Given the description of an element on the screen output the (x, y) to click on. 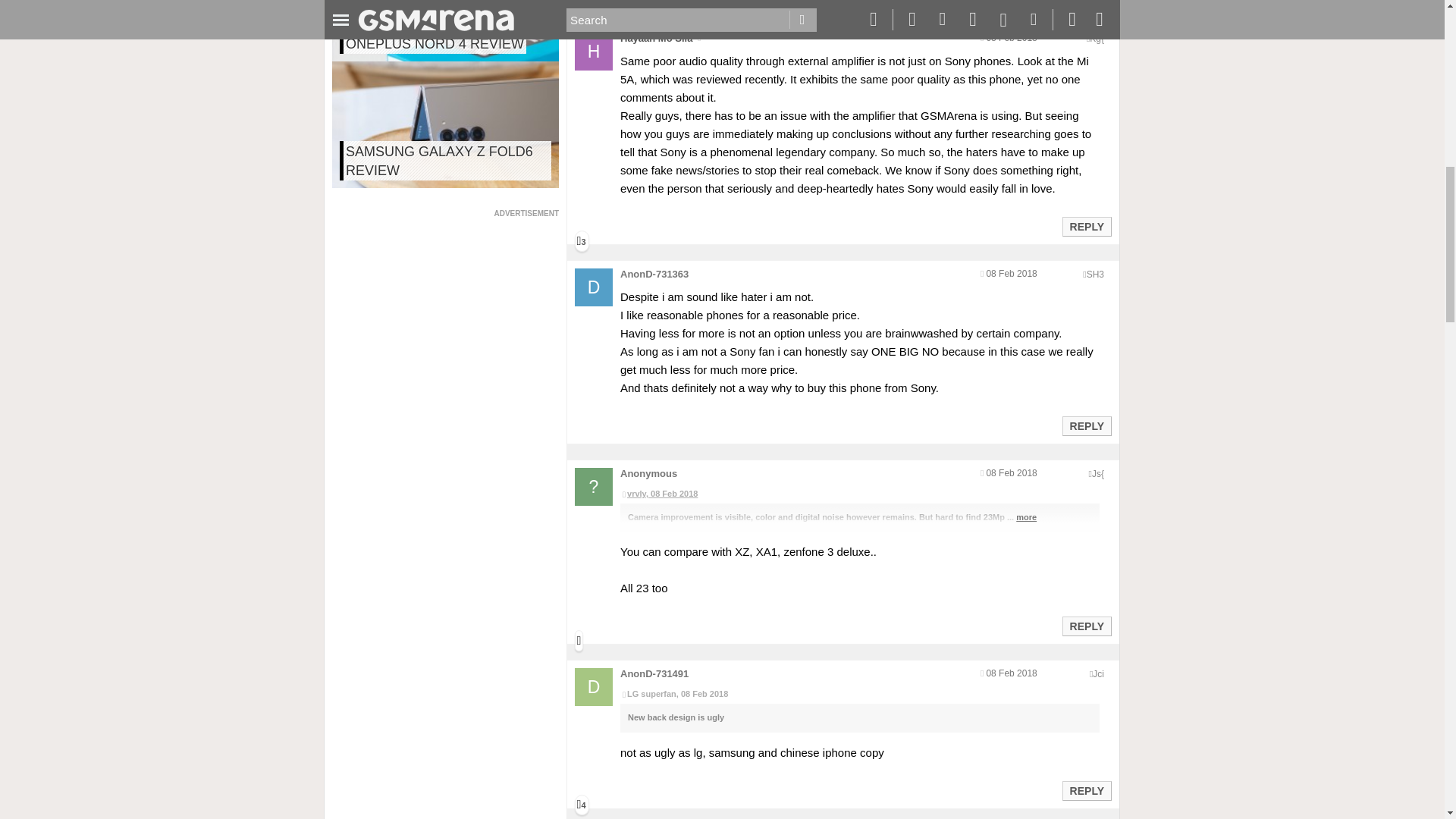
Encoded anonymized location (1096, 38)
Encoded anonymized location (1094, 274)
Reply to this post (1086, 790)
Reply to this post (1086, 625)
Encoded anonymized location (1098, 674)
Reply to this post (1086, 426)
Reply to this post (1086, 226)
Encoded anonymized location (1097, 473)
